Given the description of an element on the screen output the (x, y) to click on. 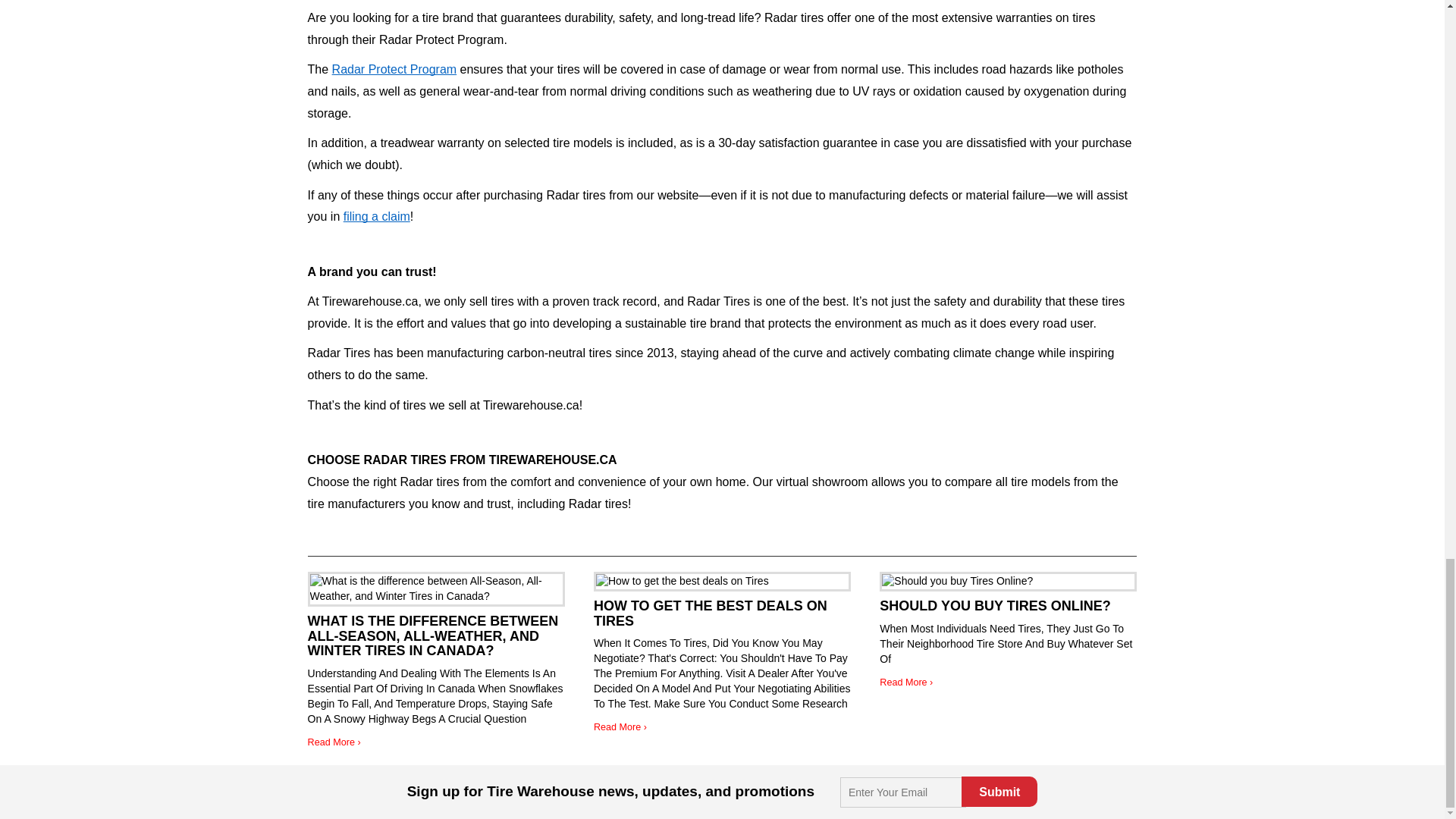
Submit (998, 791)
